Given the description of an element on the screen output the (x, y) to click on. 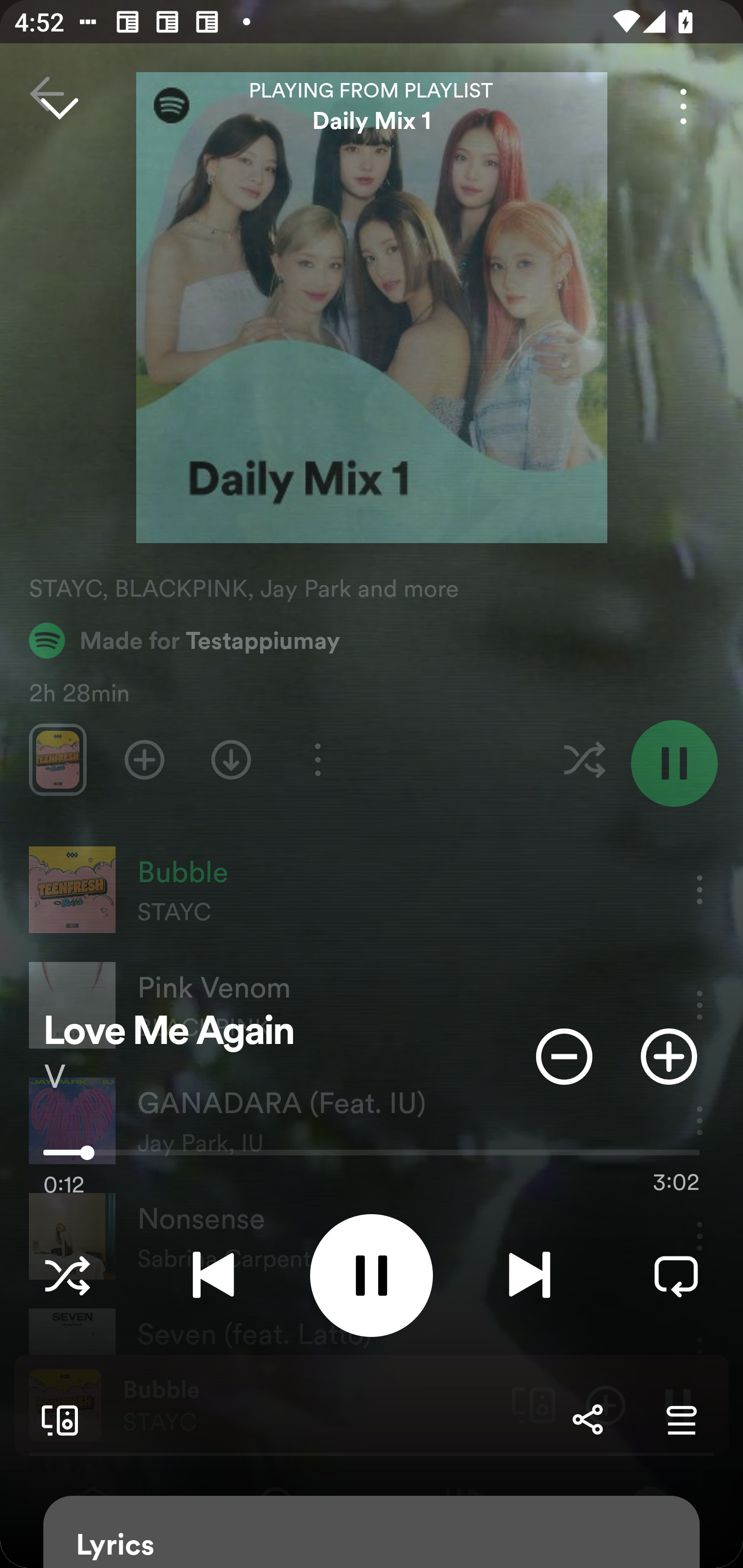
Close (59, 106)
More options for song Love Me Again (683, 106)
PLAYING FROM PLAYLIST Daily Mix 1 (371, 106)
Don't play this (564, 1056)
Add item (669, 1056)
0:11 3:02 11972.0 Use volume keys to adjust (371, 1157)
Pause (371, 1275)
Previous (212, 1275)
Next (529, 1275)
Shuffle tracks (66, 1275)
Repeat (676, 1275)
Share (587, 1419)
Go to Queue (681, 1419)
Connect to a device. Opens the devices menu (55, 1419)
Lyrics (371, 1531)
